Given the description of an element on the screen output the (x, y) to click on. 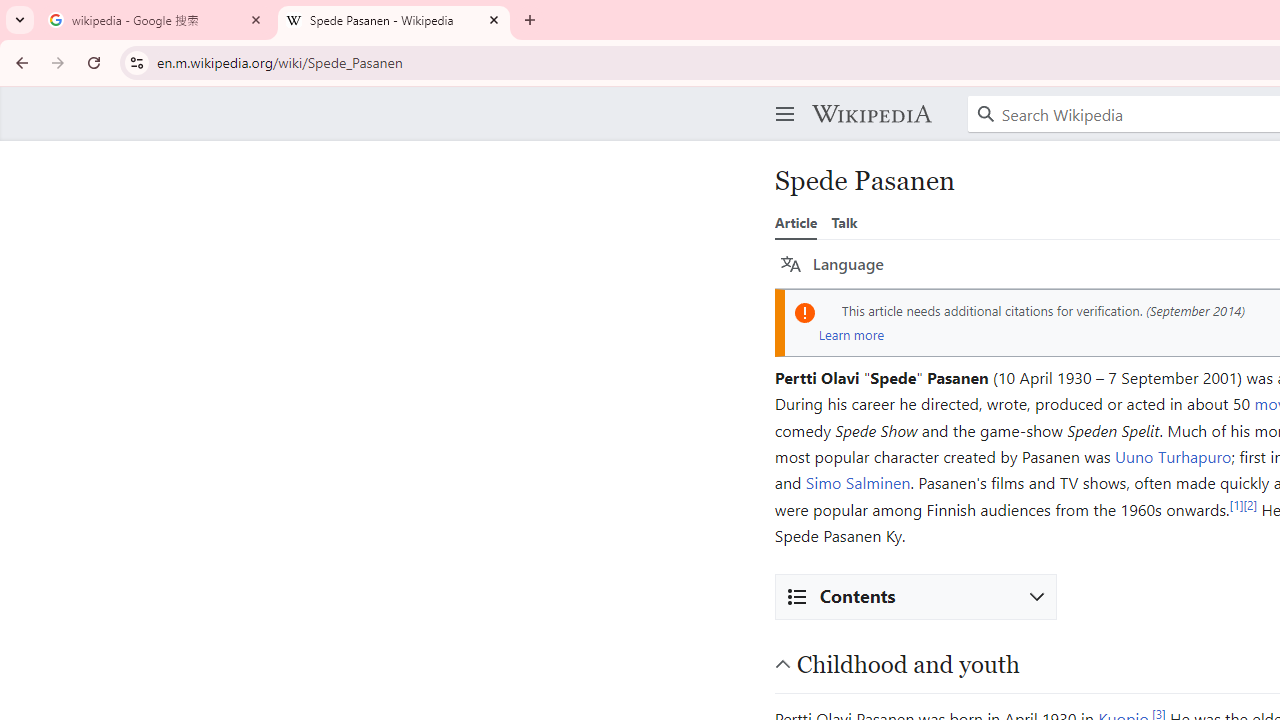
Talk (843, 222)
Spede Pasanen - Wikipedia (394, 20)
Uuno Turhapuro (1172, 456)
Language (832, 264)
verification (1108, 310)
Article (795, 222)
AutomationID: main-menu-input (781, 98)
[1] (1236, 504)
